Given the description of an element on the screen output the (x, y) to click on. 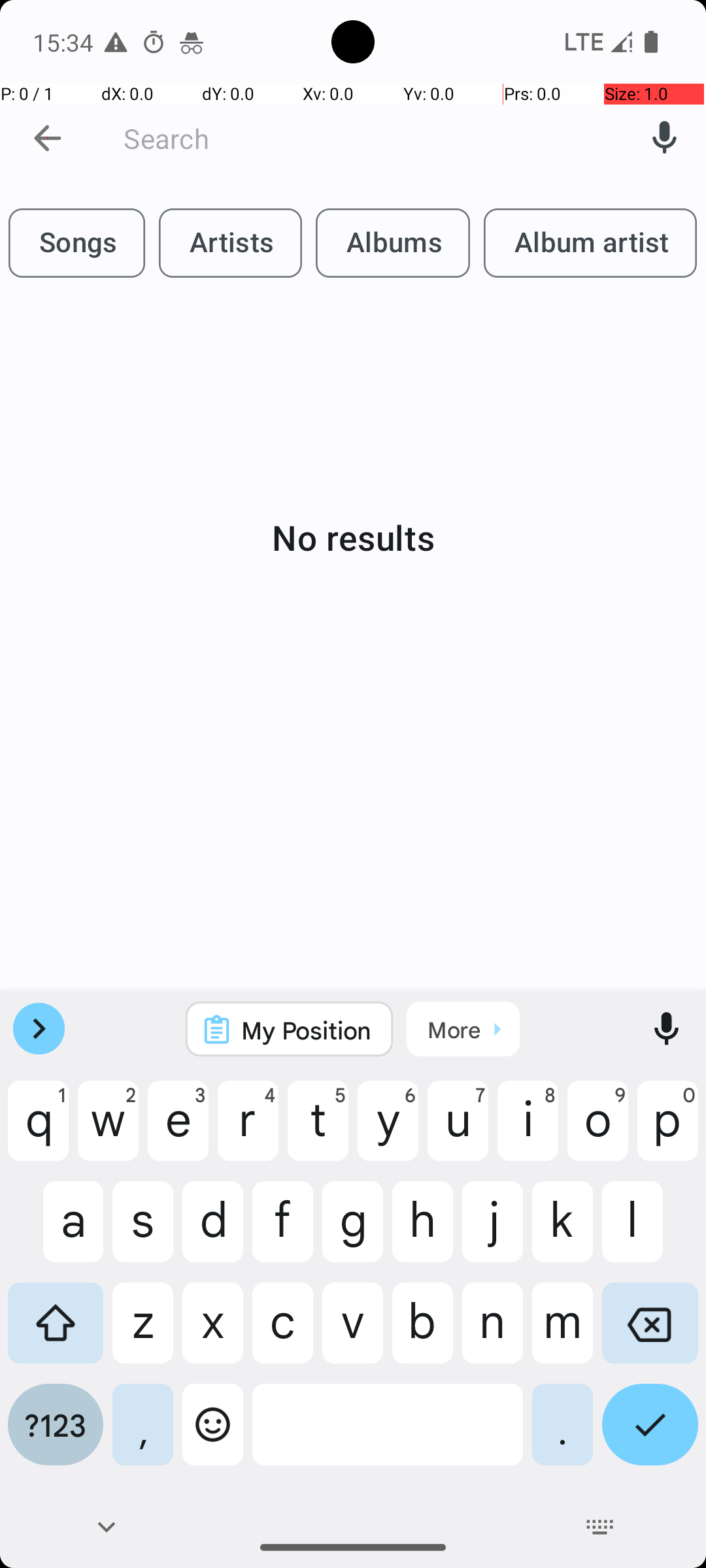
No results Element type: android.widget.TextView (352, 537)
Songs Element type: android.widget.RadioButton (76, 242)
Artists Element type: android.widget.RadioButton (230, 242)
Albums Element type: android.widget.RadioButton (392, 242)
Album artist Element type: android.widget.RadioButton (589, 242)
